Given the description of an element on the screen output the (x, y) to click on. 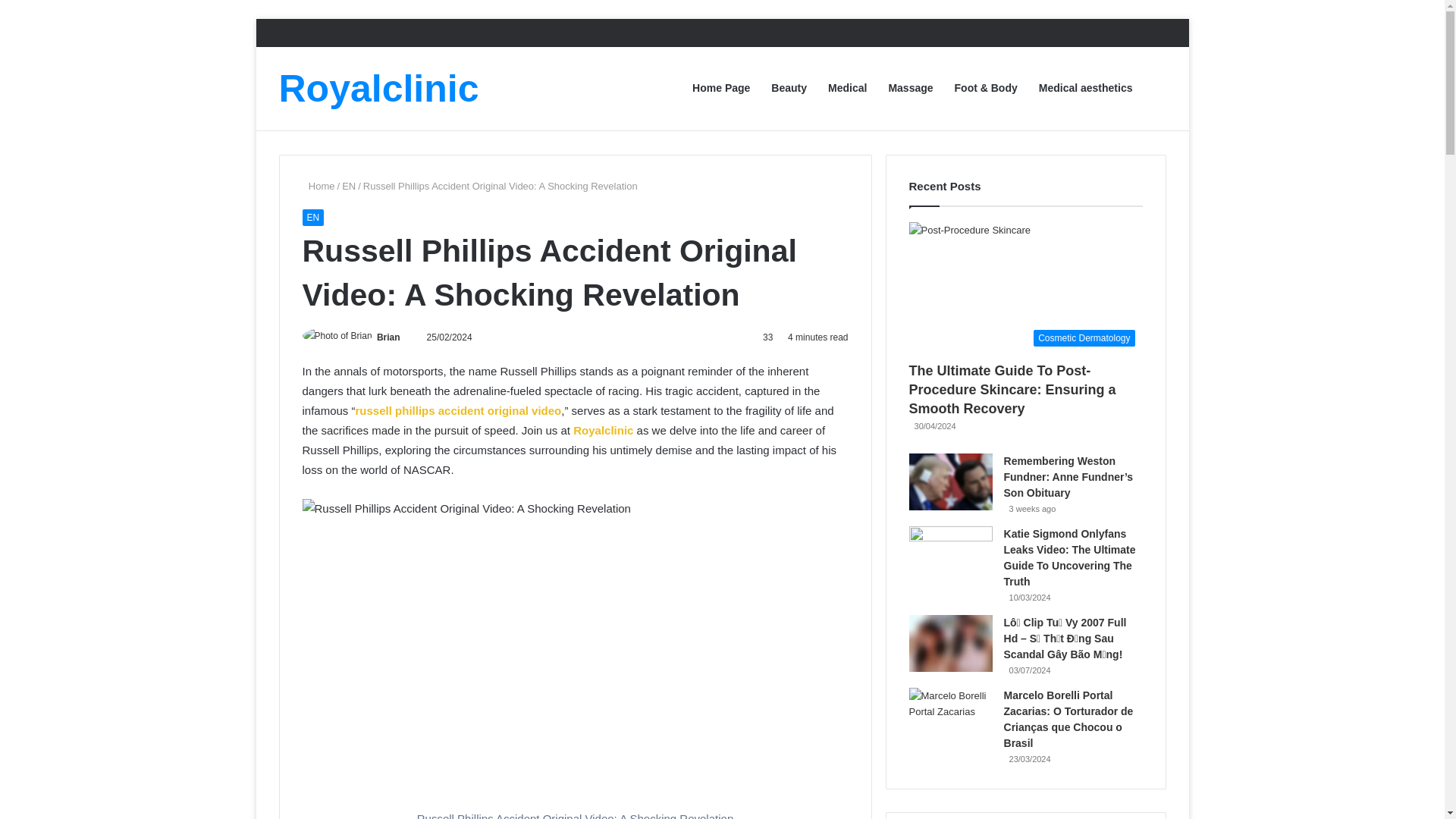
Royalclinic (603, 430)
Brian (388, 337)
Medical aesthetics (1084, 87)
Royalclinic (379, 88)
Royalclinic (379, 88)
Brian (388, 337)
Home Page (720, 87)
EN (312, 217)
russell phillips accident original video (458, 410)
EN (348, 185)
Home (317, 185)
